Given the description of an element on the screen output the (x, y) to click on. 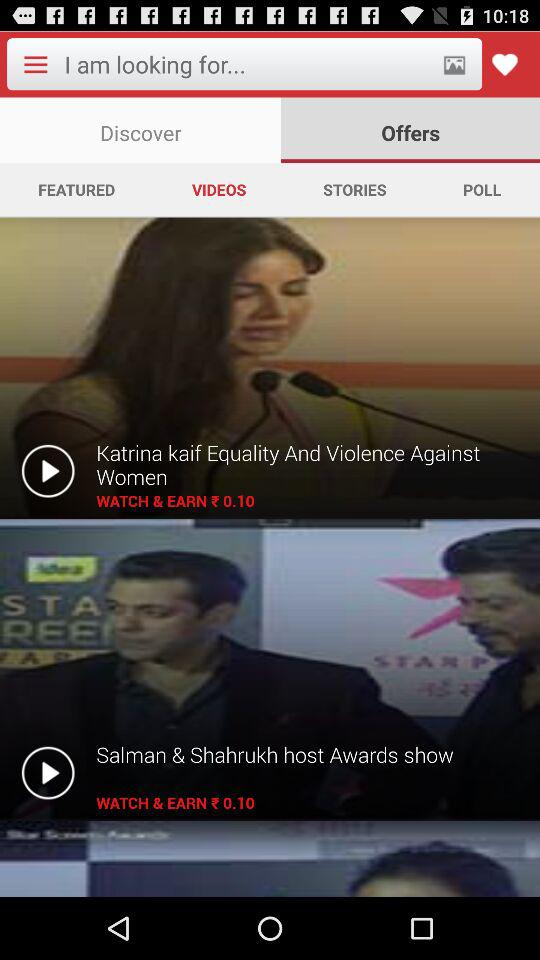
get location (453, 63)
